Given the description of an element on the screen output the (x, y) to click on. 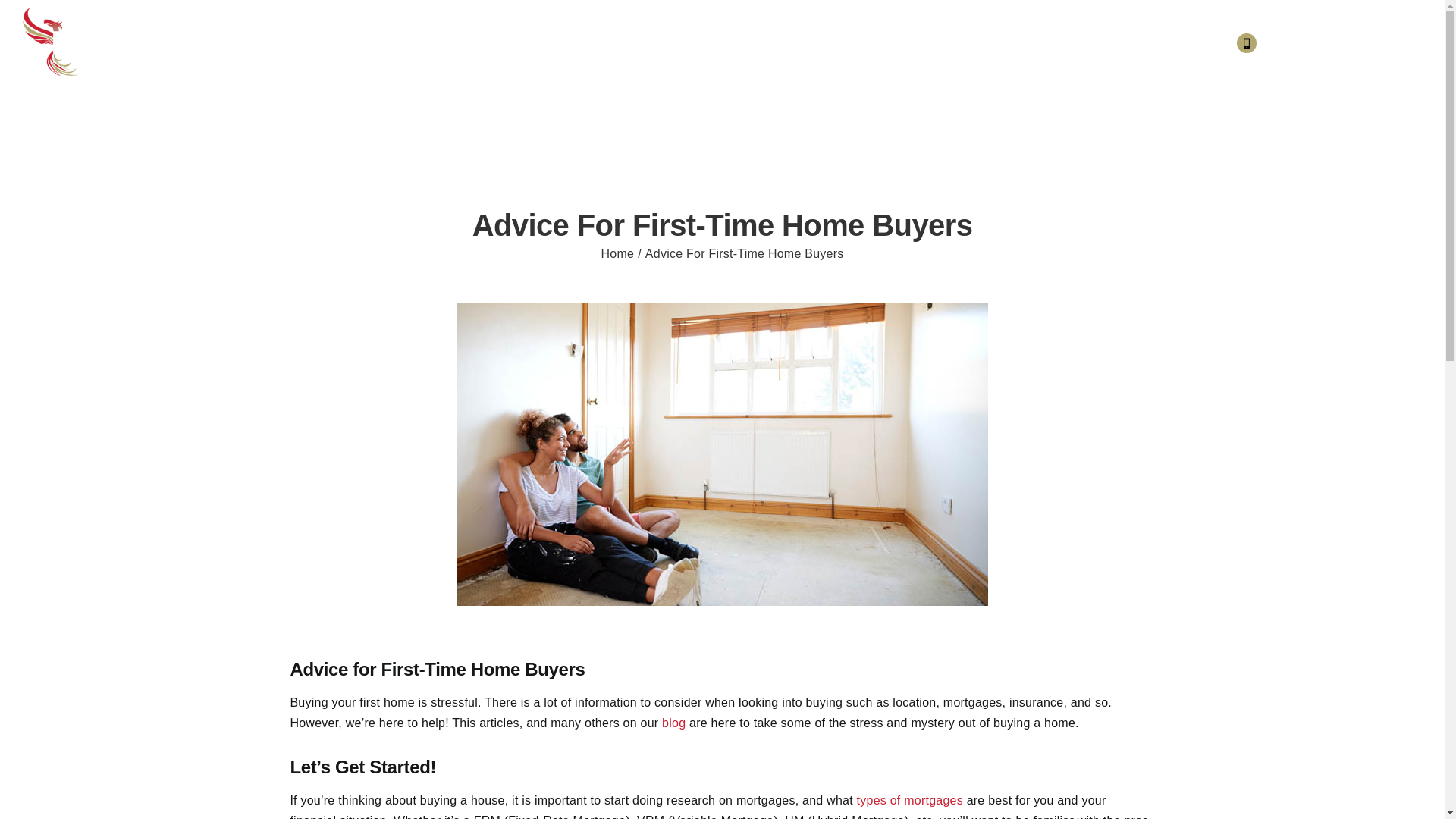
Home (617, 253)
blog (673, 722)
Contact (1160, 43)
Properties (755, 43)
Services (917, 43)
Concierge Management (1070, 43)
types of mortgages (909, 799)
About Us (688, 43)
Ocala Farmhouse (840, 43)
Education (976, 43)
